Given the description of an element on the screen output the (x, y) to click on. 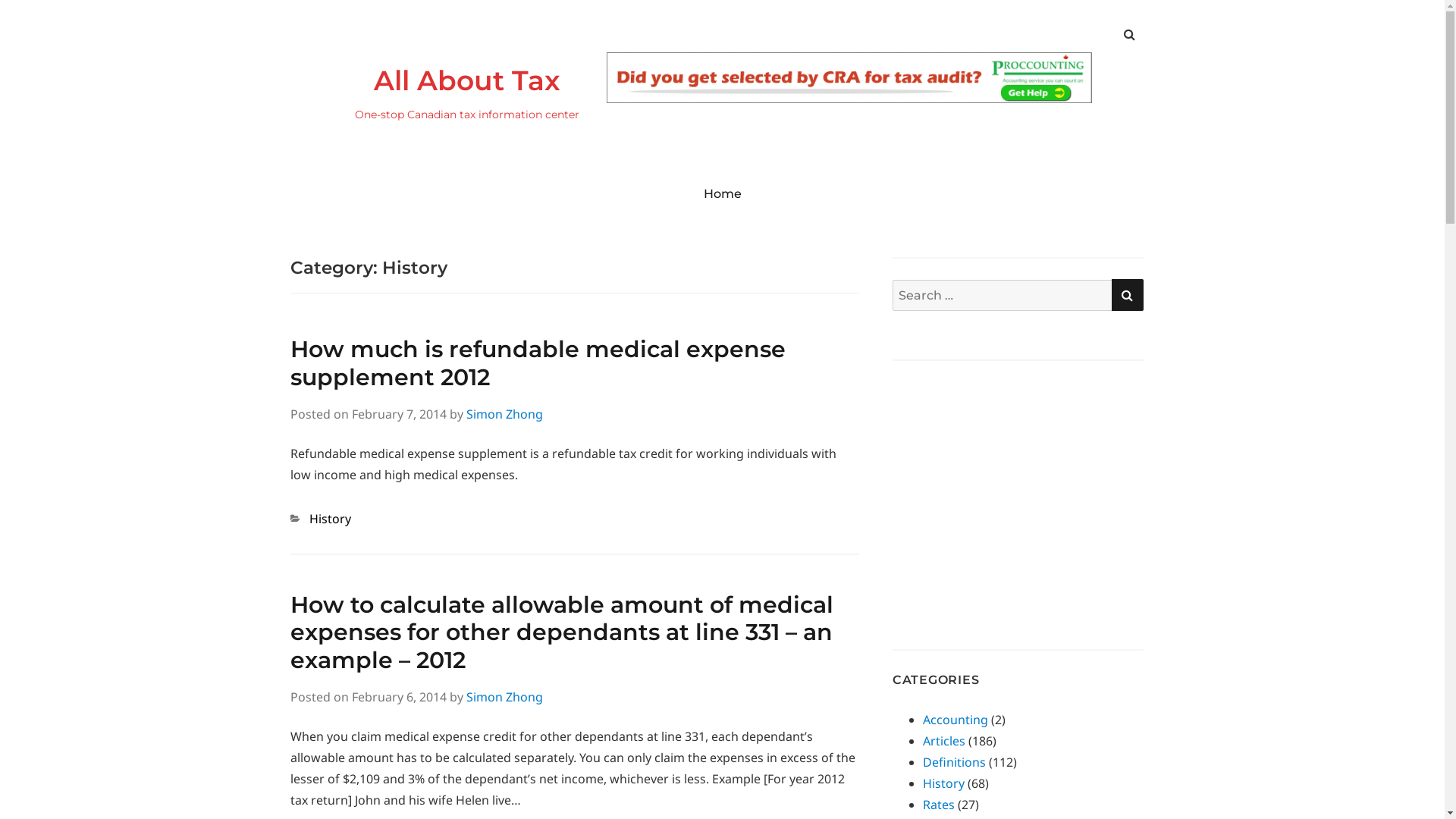
Simon Zhong Element type: text (503, 696)
Simon Zhong Element type: text (503, 413)
Definitions Element type: text (953, 761)
Rates Element type: text (938, 804)
History Element type: text (943, 783)
How much is refundable medical expense supplement 2012 Element type: text (536, 363)
Accounting Element type: text (955, 719)
All About Tax Element type: text (466, 80)
Advertisement Element type: hover (1019, 488)
History Element type: text (330, 518)
SEARCH Element type: text (1127, 294)
Home Element type: text (722, 193)
Articles Element type: text (943, 740)
